Given the description of an element on the screen output the (x, y) to click on. 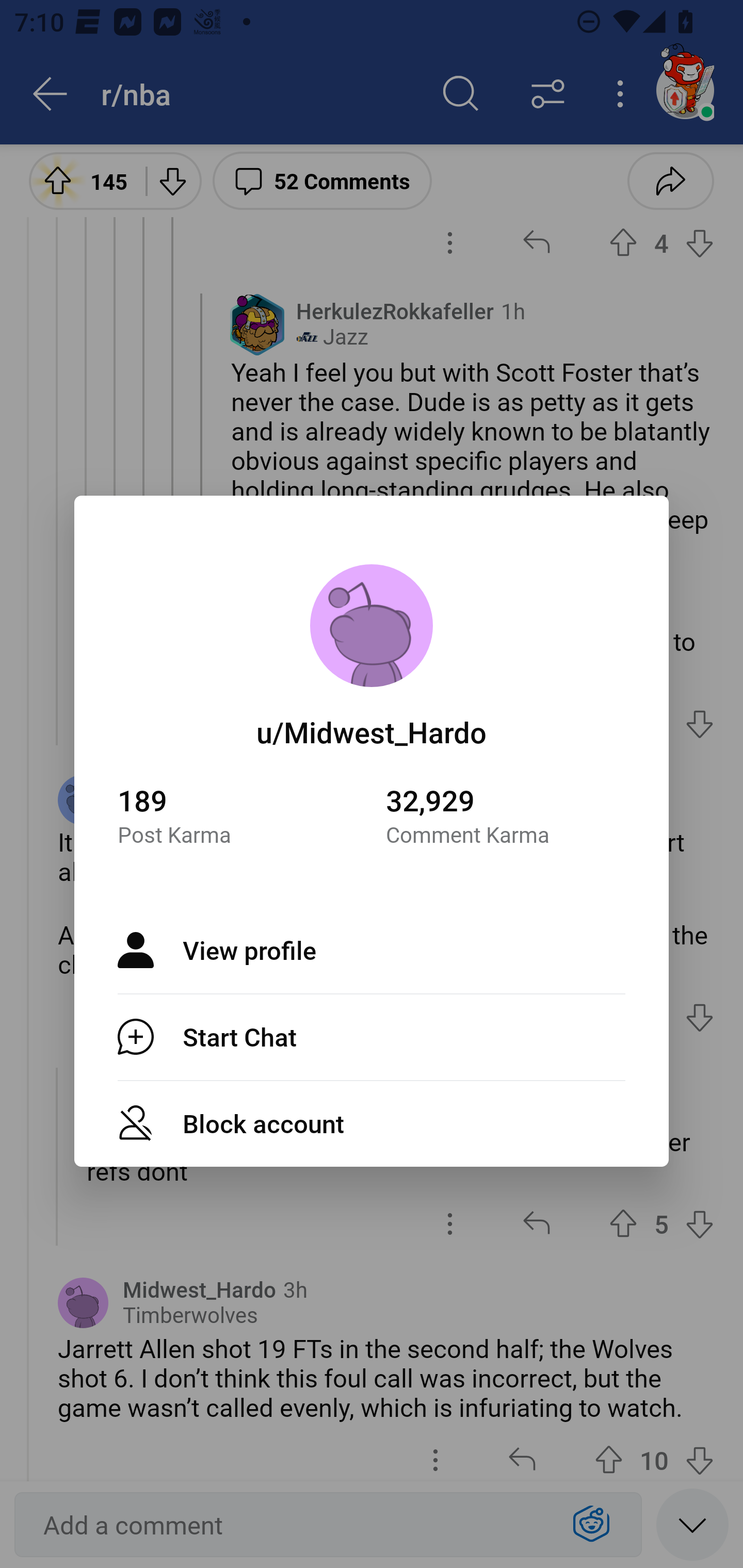
u/Midwest_Hardo (371, 731)
View profile (371, 950)
Start Chat (371, 1037)
Block account (371, 1123)
